Given the description of an element on the screen output the (x, y) to click on. 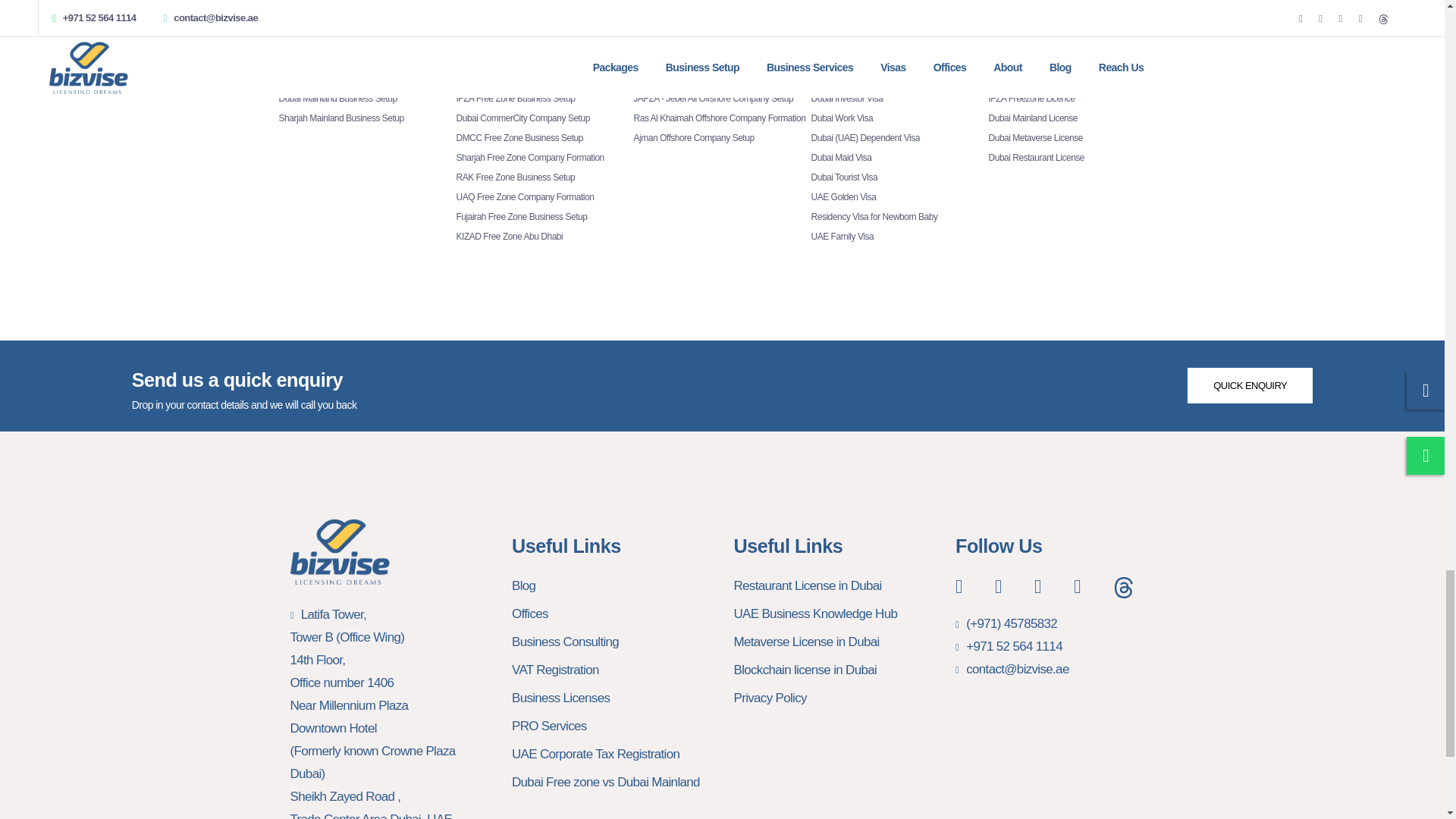
click to open whatsapp chat (1250, 385)
